Given the description of an element on the screen output the (x, y) to click on. 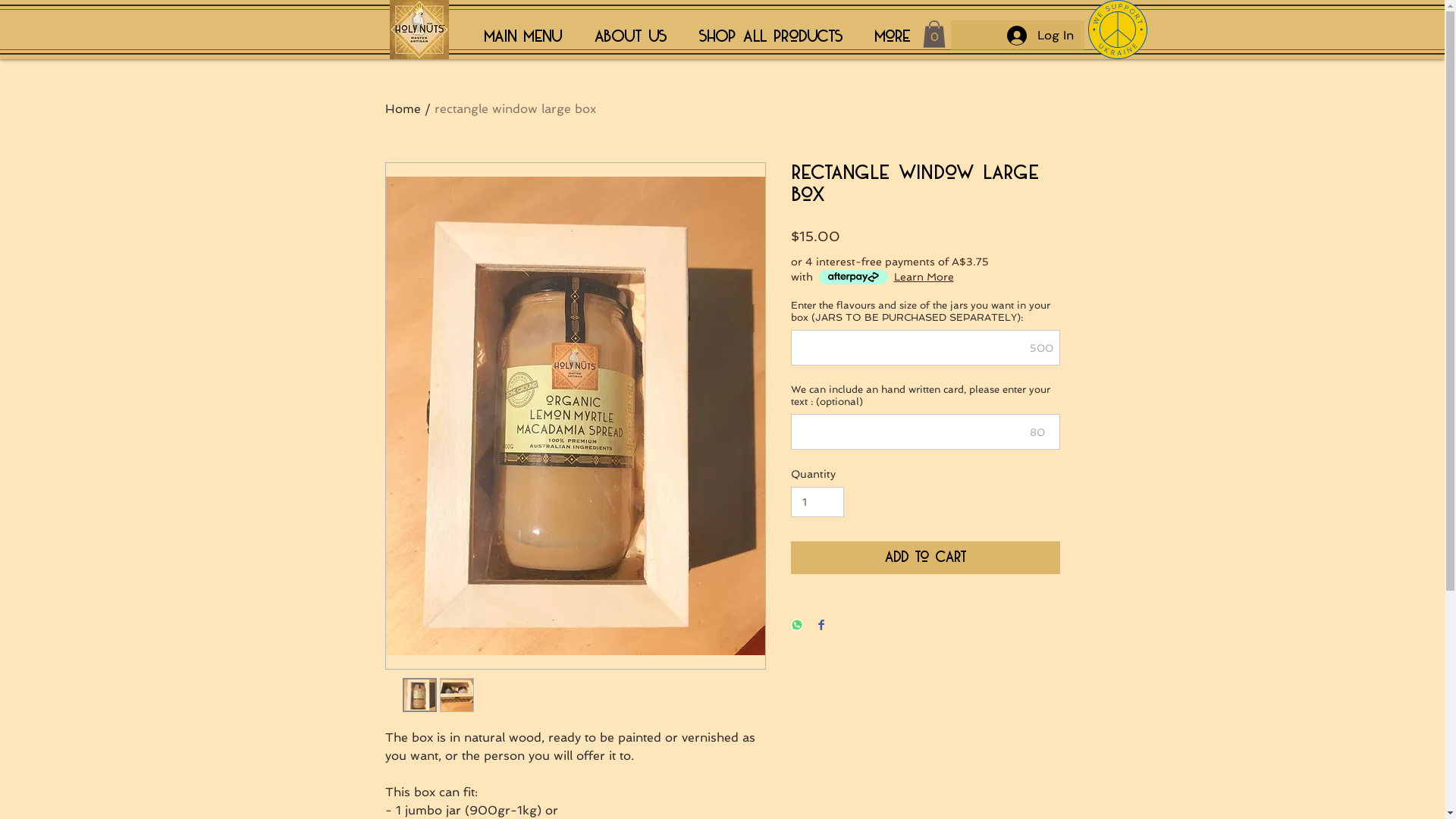
ABOUT US Element type: text (629, 36)
Log In Element type: text (1040, 35)
Learn More Element type: text (923, 276)
Home Element type: text (402, 108)
SHOP all products Element type: text (770, 36)
MAIN MENU Element type: text (528, 36)
0 Element type: text (933, 33)
rectangle window large box Element type: text (514, 108)
Add to Cart Element type: text (924, 557)
